Given the description of an element on the screen output the (x, y) to click on. 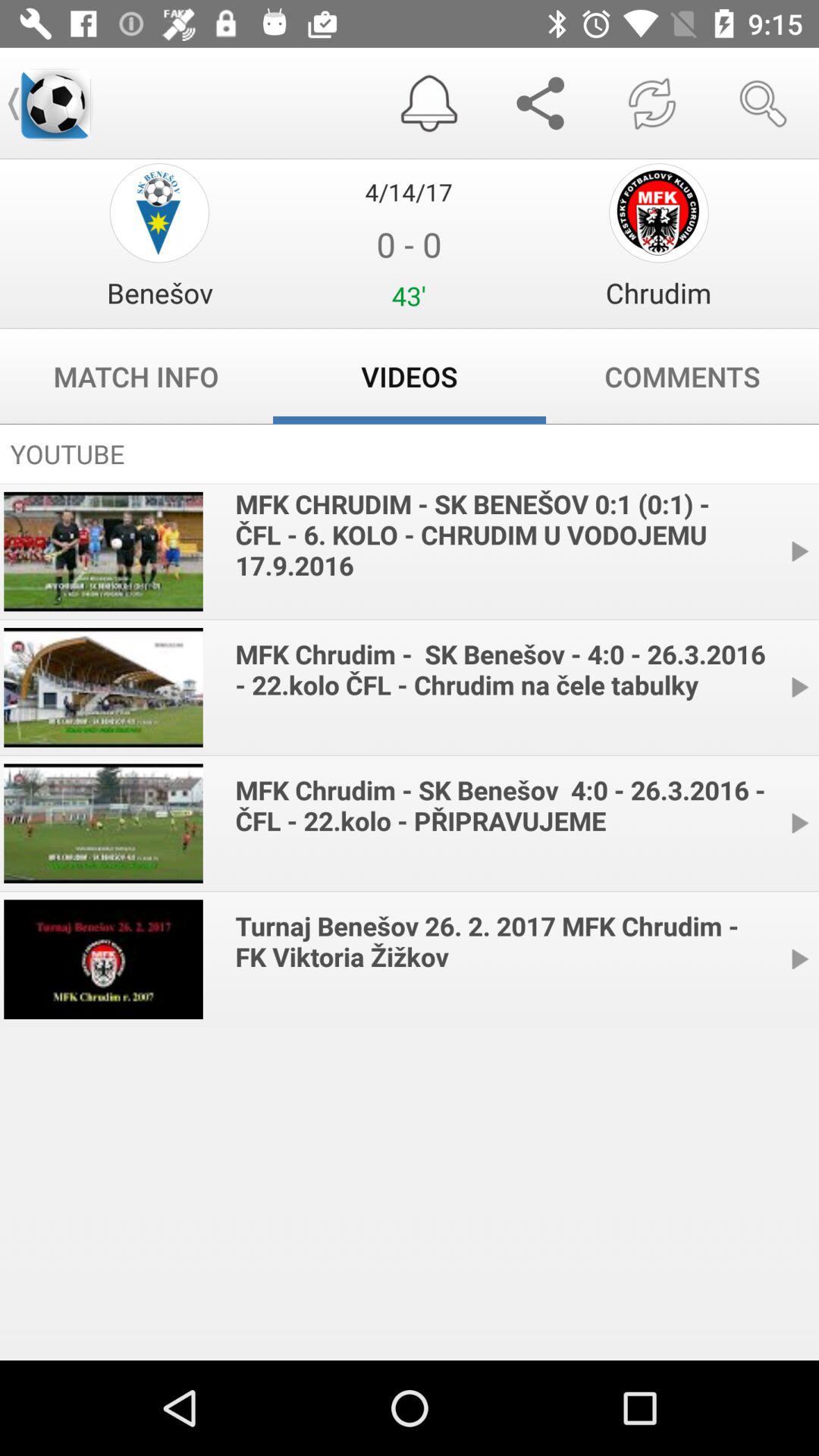
go to chrudim (658, 212)
